Given the description of an element on the screen output the (x, y) to click on. 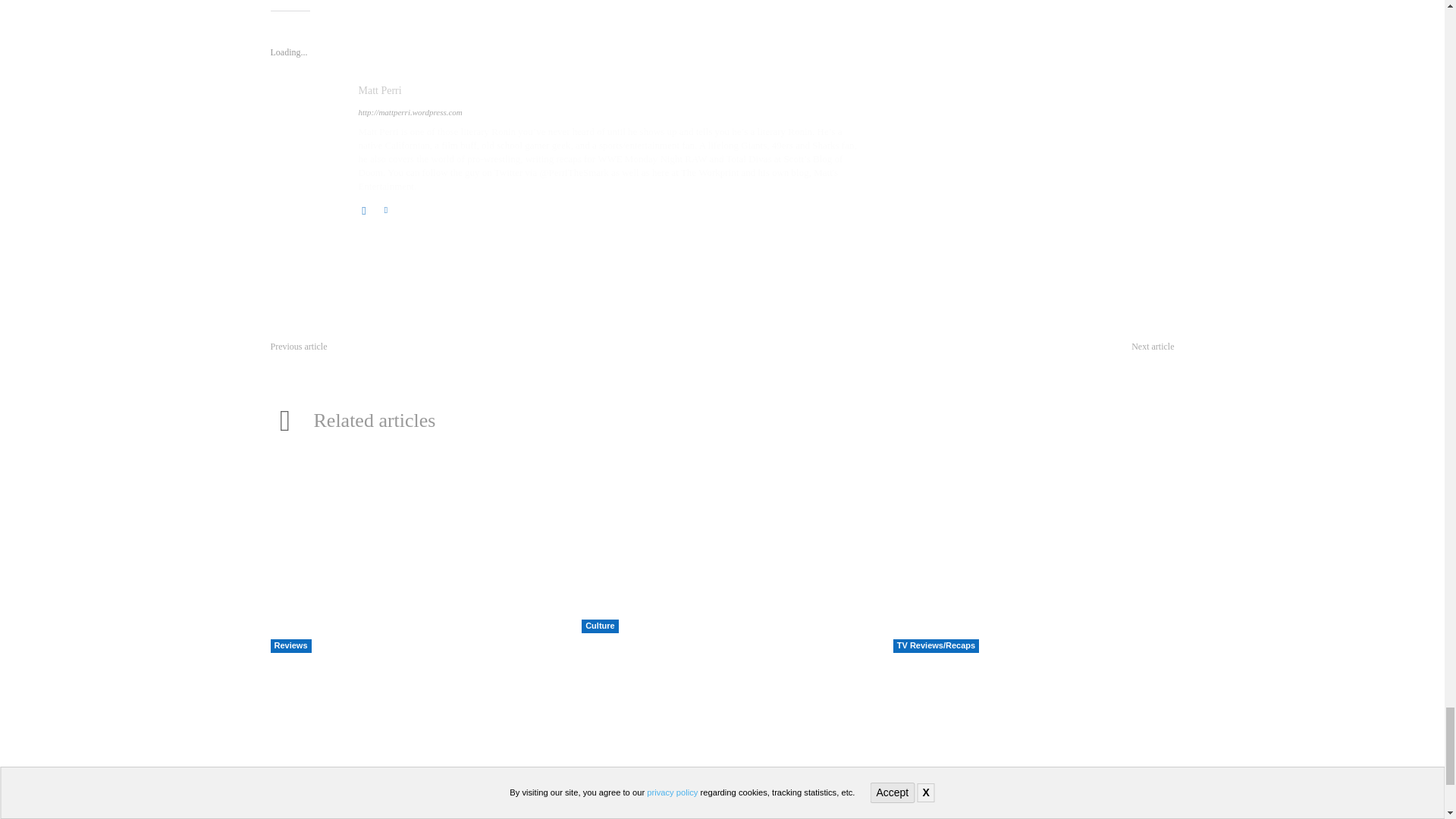
Twitter (385, 207)
Facebook (363, 207)
